Given the description of an element on the screen output the (x, y) to click on. 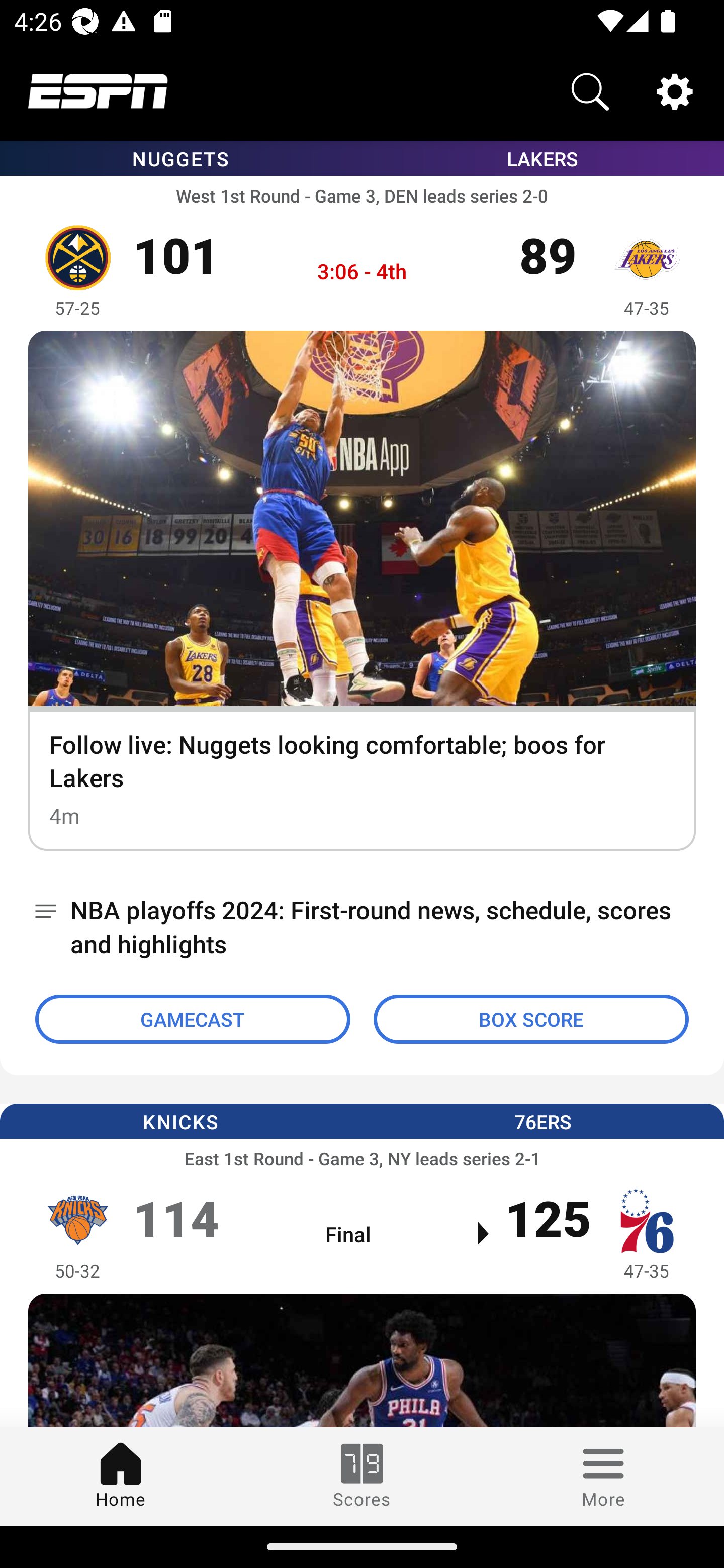
Search (590, 90)
Settings (674, 90)
GAMECAST (192, 1019)
BOX SCORE (530, 1019)
Scores (361, 1475)
More (603, 1475)
